Given the description of an element on the screen output the (x, y) to click on. 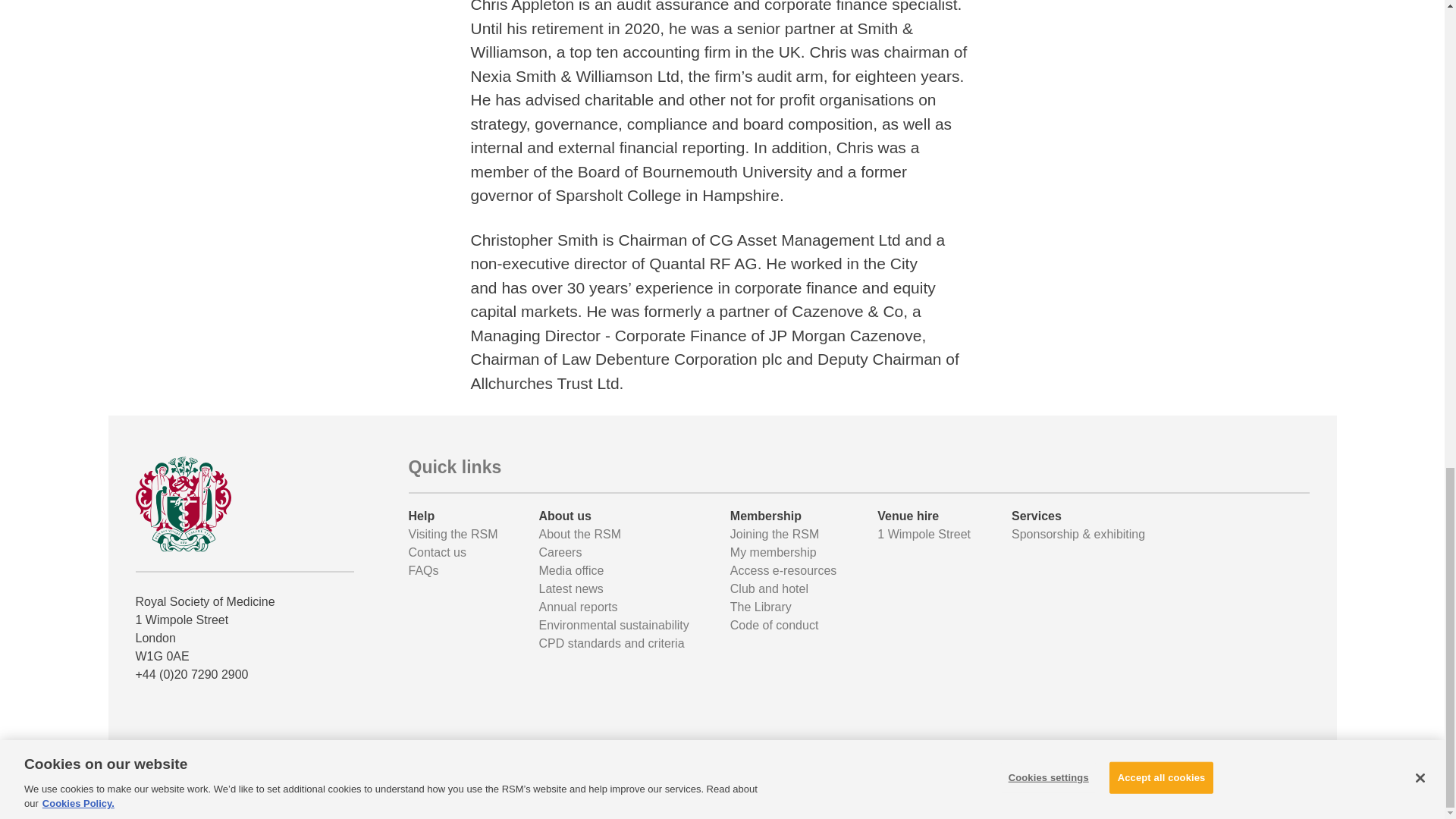
Club and hotel (769, 588)
Code of conduct (774, 625)
Contact us (436, 552)
Annual reports (577, 606)
Visiting the RSM (452, 533)
The Library (761, 606)
Terms and Conditions (1097, 795)
1 Wimpole Street (924, 533)
About the RSM (579, 533)
Environmental sustainability (613, 625)
